Given the description of an element on the screen output the (x, y) to click on. 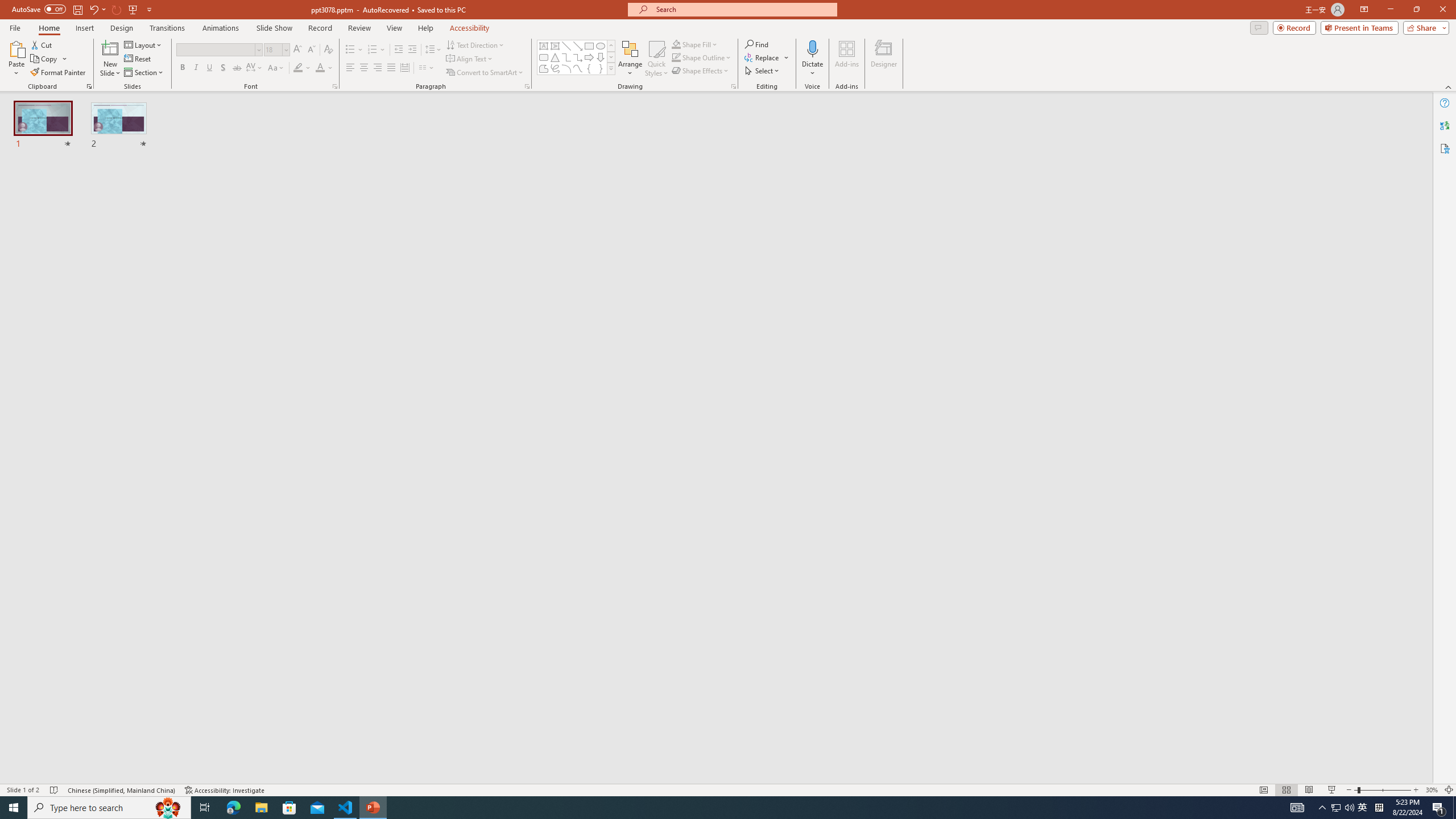
Zoom 30% (1431, 790)
